Given the description of an element on the screen output the (x, y) to click on. 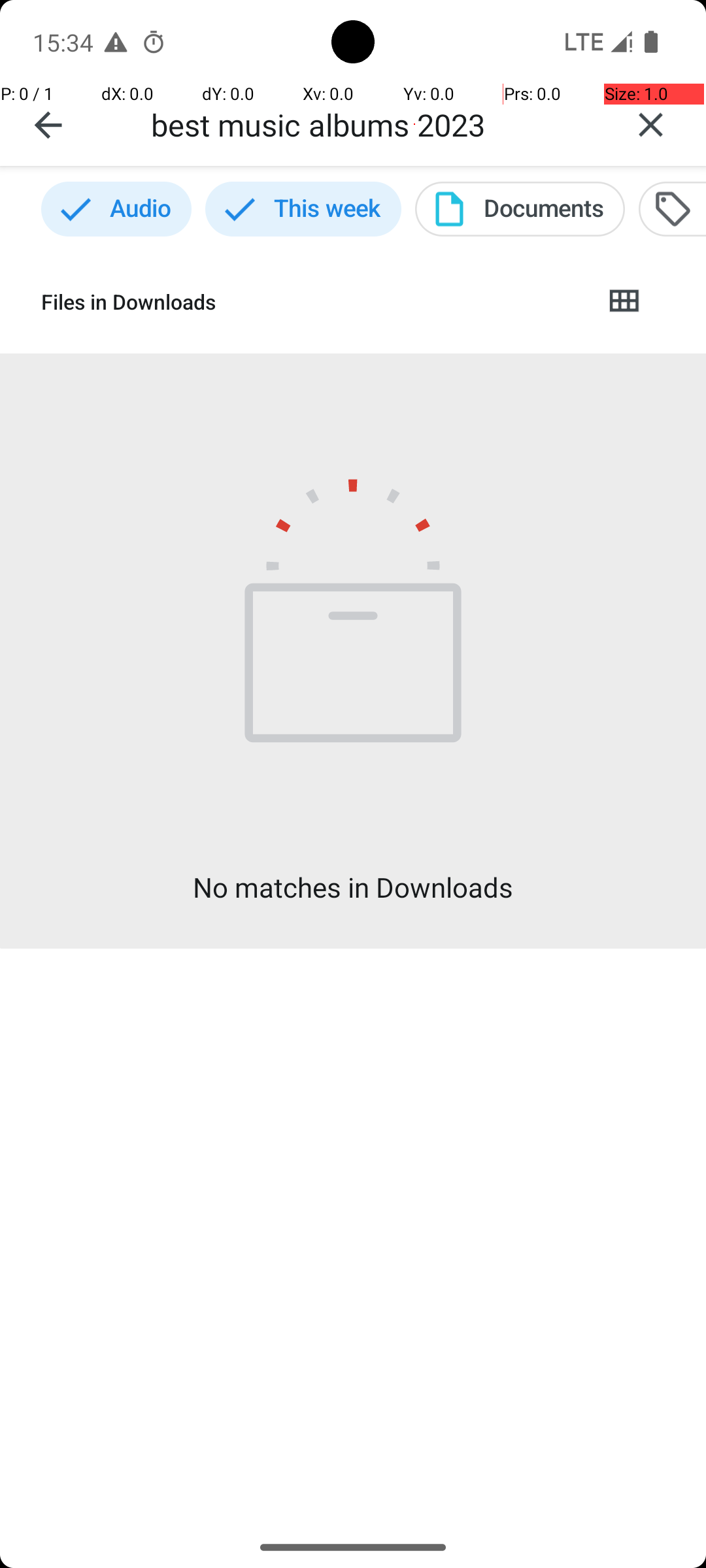
best music albums 2023 Element type: android.widget.AutoCompleteTextView (373, 124)
Clear query Element type: android.widget.ImageView (650, 124)
